Given the description of an element on the screen output the (x, y) to click on. 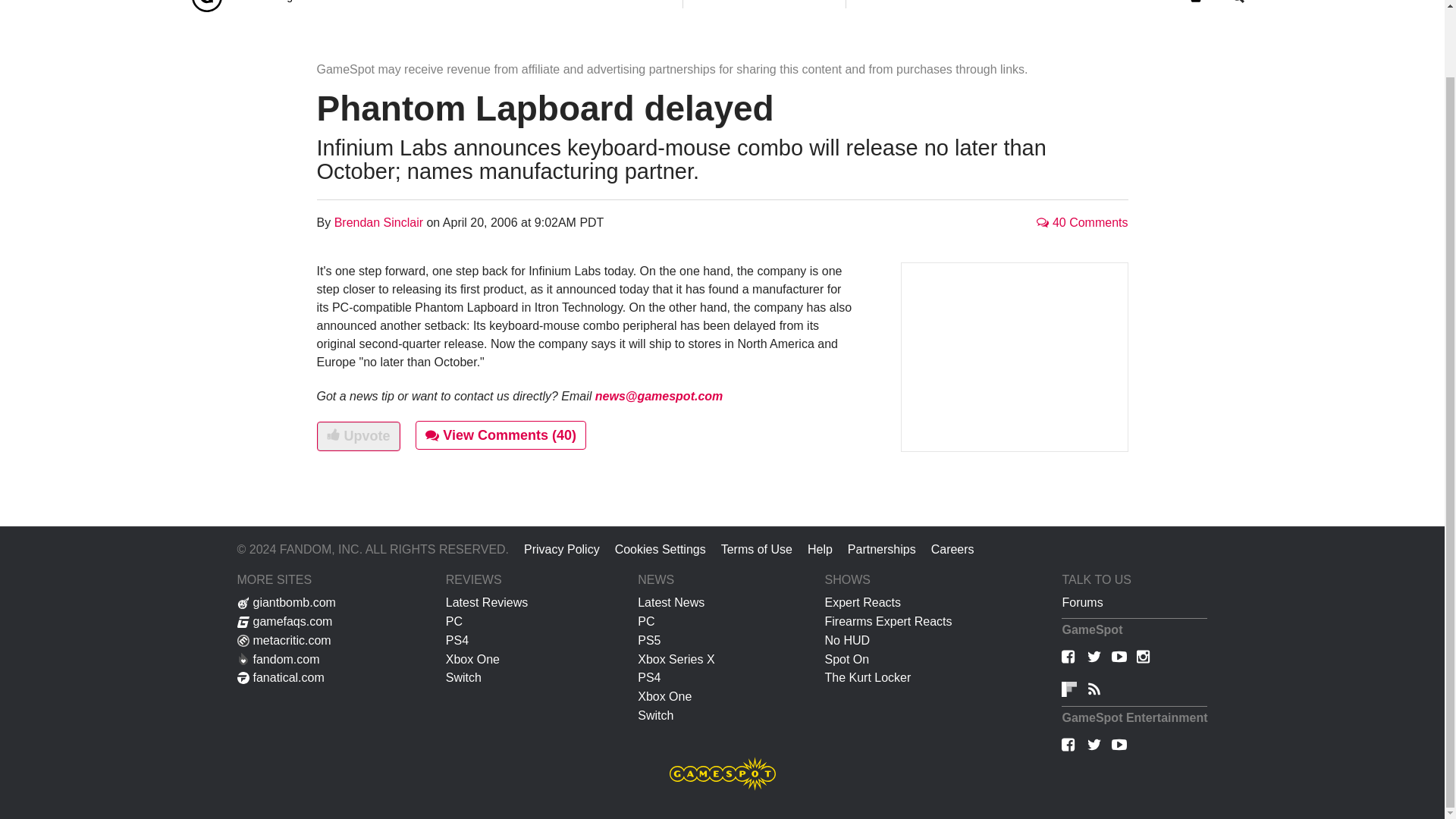
GameSpot (205, 7)
San Diego Comic-Con 2024 (314, 7)
News (411, 7)
Reviews (516, 7)
Deals (649, 7)
Staff Picks (587, 7)
Videos (460, 7)
Games (718, 7)
